Given the description of an element on the screen output the (x, y) to click on. 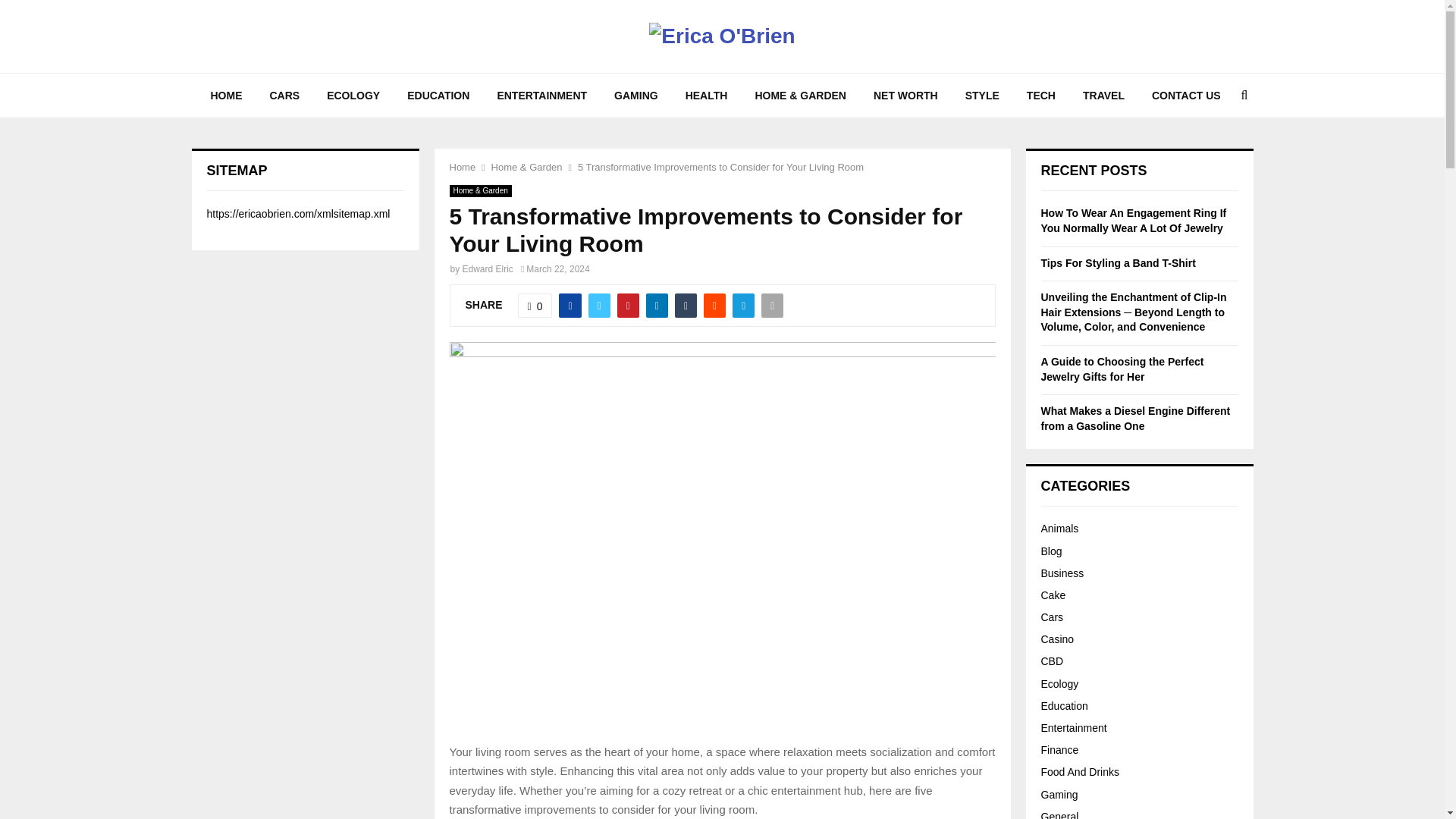
HOME (226, 94)
Home (462, 166)
Like (535, 305)
ECOLOGY (353, 94)
Edward Elric (488, 268)
GAMING (635, 94)
CONTACT US (1186, 94)
CARS (285, 94)
TECH (1040, 94)
